Given the description of an element on the screen output the (x, y) to click on. 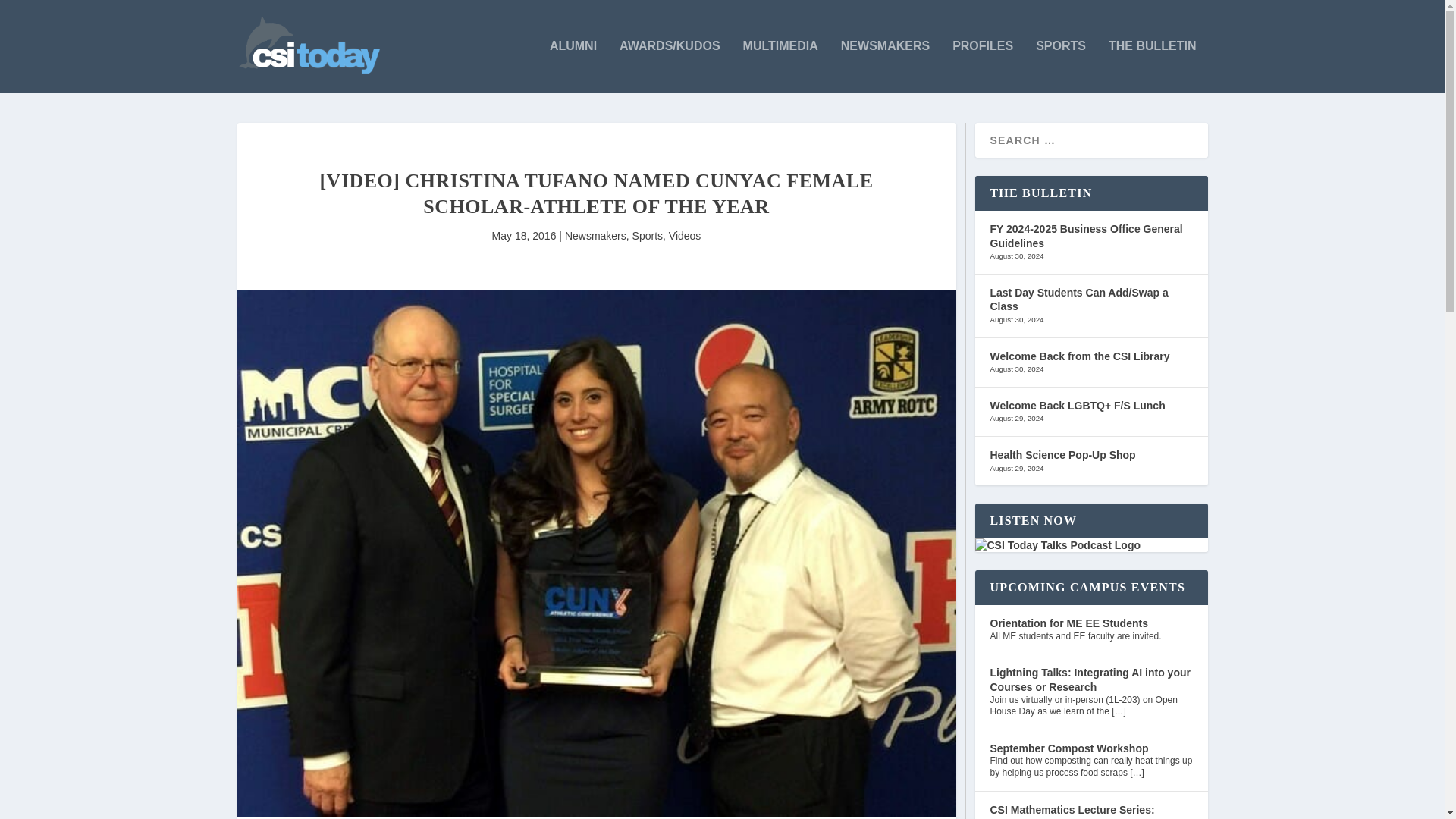
THE BULLETIN (1152, 66)
ALUMNI (573, 66)
SPORTS (1060, 66)
NEWSMAKERS (885, 66)
Sports (646, 235)
PROFILES (982, 66)
Newsmakers (595, 235)
MULTIMEDIA (780, 66)
Videos (684, 235)
